Given the description of an element on the screen output the (x, y) to click on. 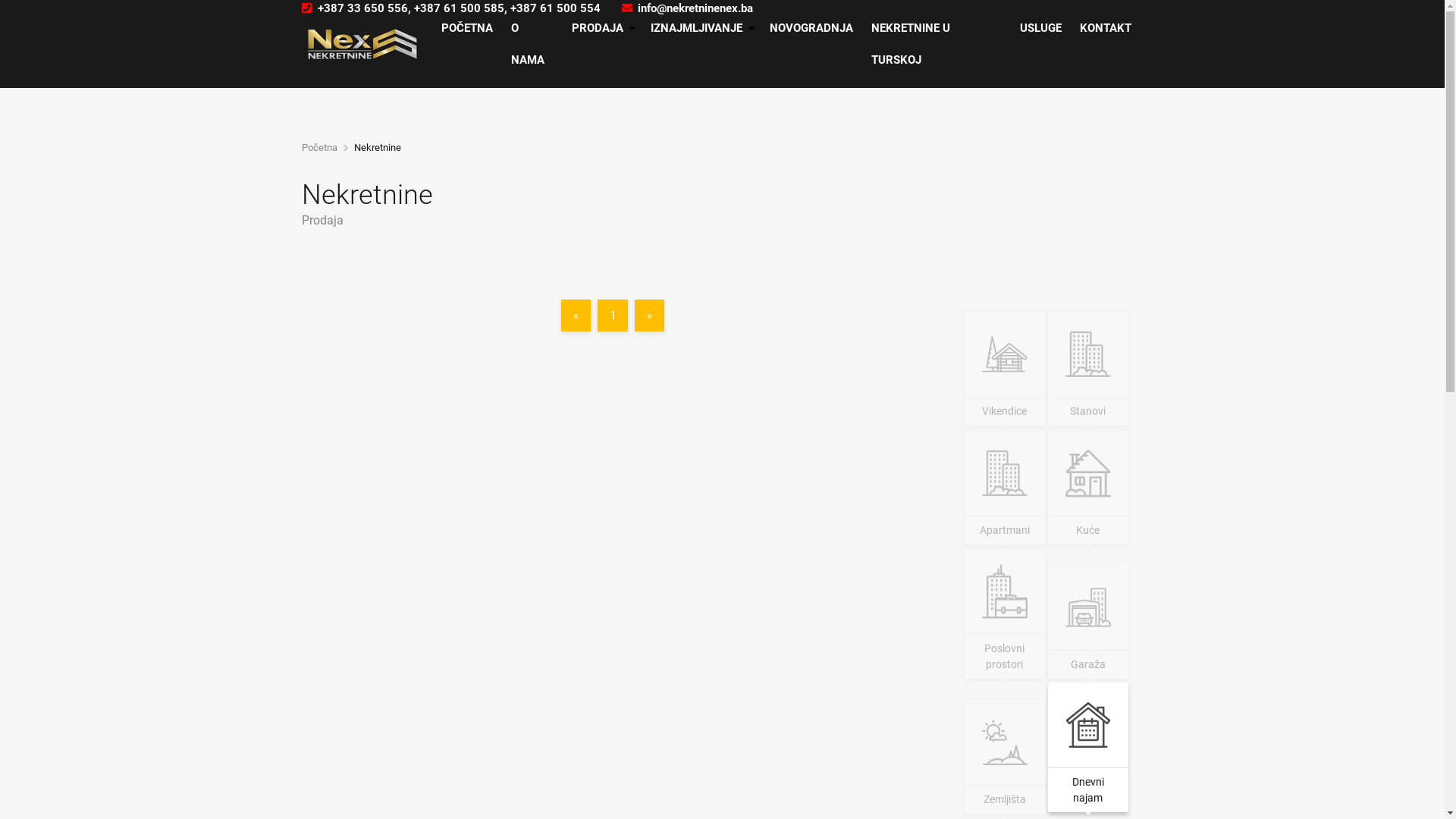
info@nekretninenex.ba Element type: text (687, 8)
Vikendice Element type: text (1004, 368)
USLUGE Element type: text (1039, 27)
Stanovi Element type: text (1088, 368)
PRODAJA Element type: text (601, 27)
Poslovni prostori Element type: text (1004, 613)
Apartmani Element type: text (1004, 487)
Dnevni najam Element type: text (1088, 748)
KONTAKT Element type: text (1105, 27)
IZNAJMLJIVANJE Element type: text (700, 27)
NEKRETNINE U TURSKOJ Element type: text (936, 43)
NOVOGRADNJA Element type: text (811, 27)
O NAMA Element type: text (532, 43)
